Given the description of an element on the screen output the (x, y) to click on. 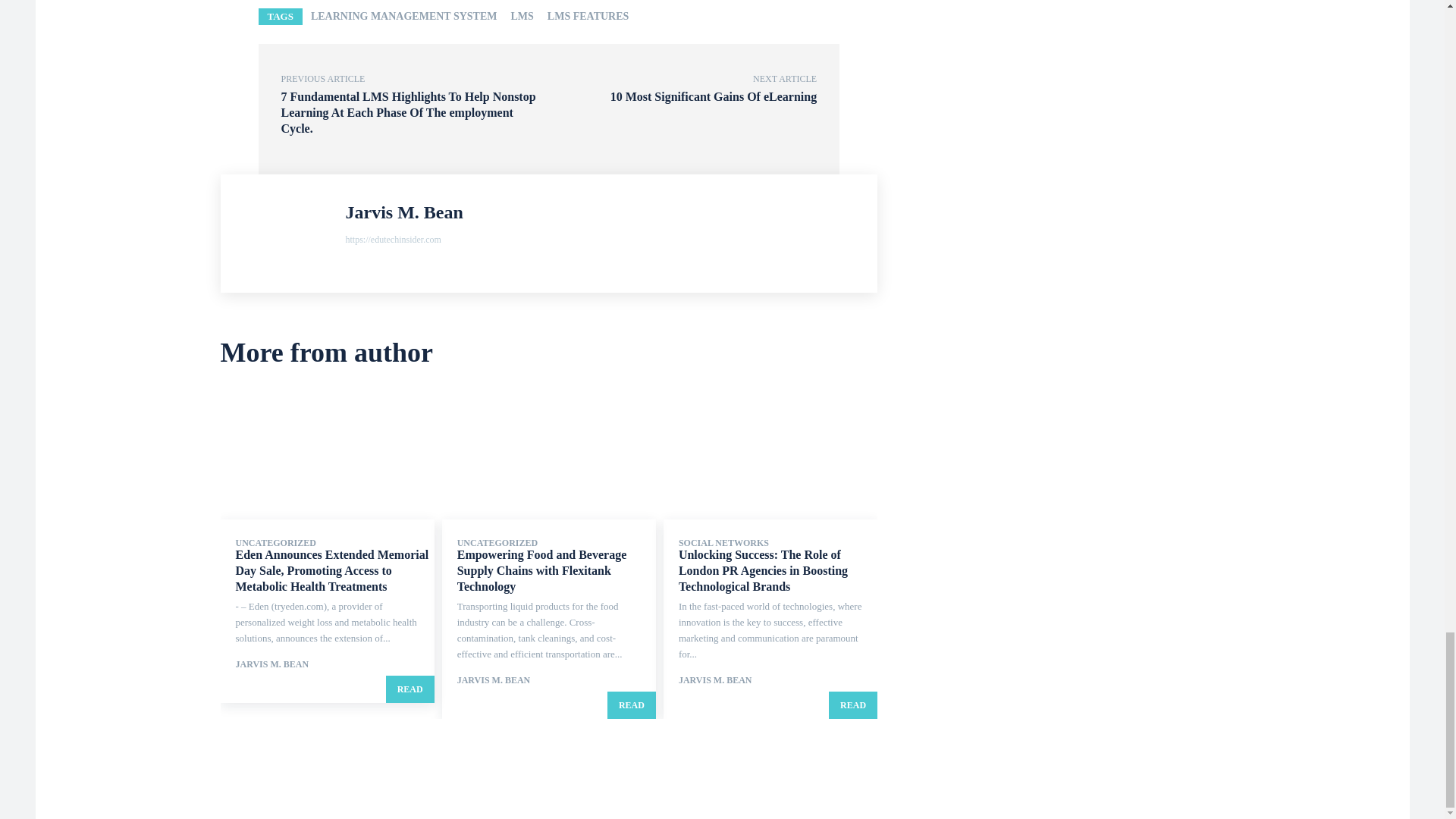
LEARNING MANAGEMENT SYSTEM (403, 16)
LMS FEATURES (587, 16)
UNCATEGORIZED (274, 542)
10 Most Significant Gains Of eLearning (713, 96)
LMS (521, 16)
READ (409, 688)
JARVIS M. BEAN (271, 664)
